Given the description of an element on the screen output the (x, y) to click on. 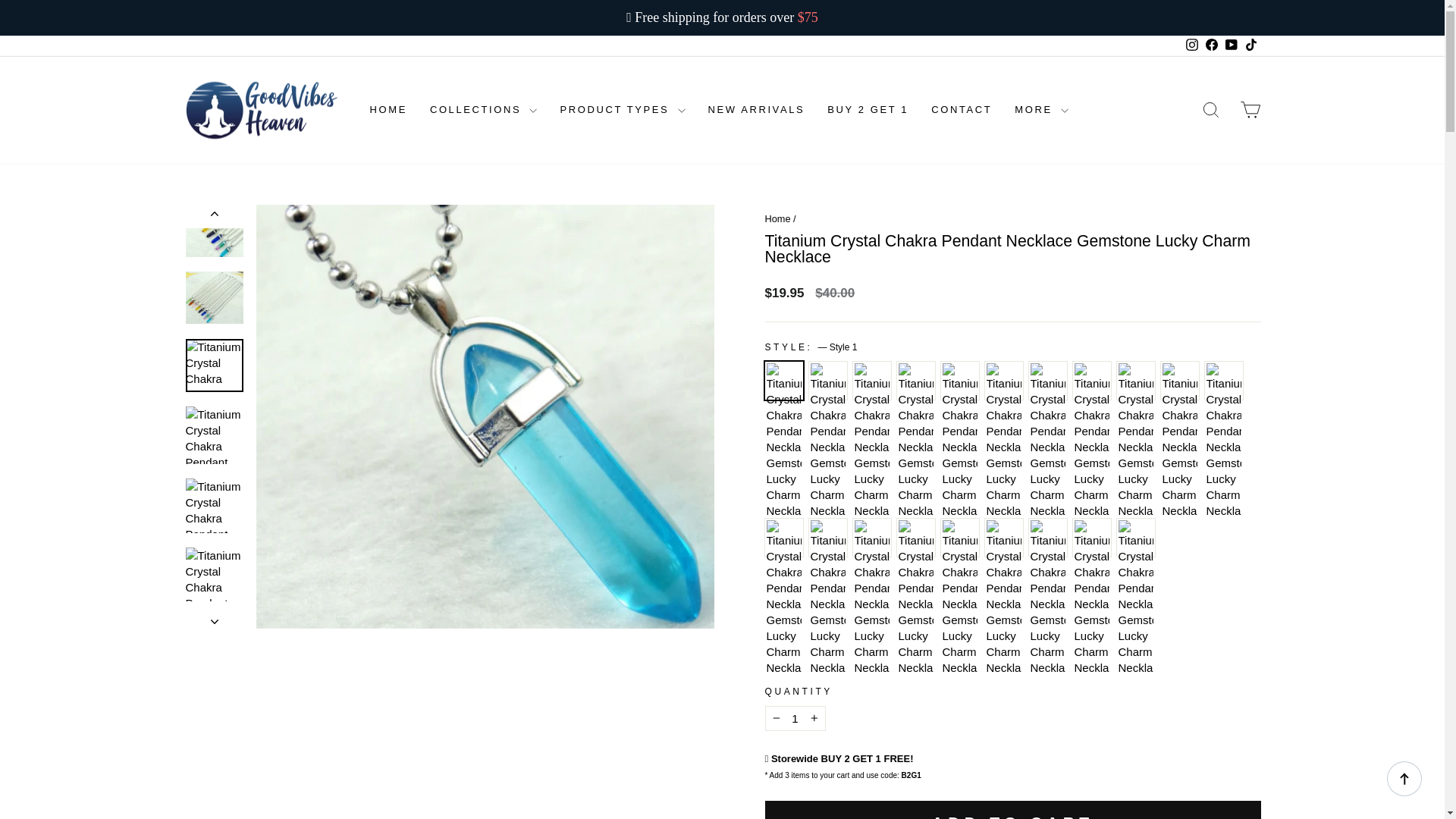
GoodVibes Heaven on Instagram (1190, 45)
Back to the frontpage (777, 218)
